Given the description of an element on the screen output the (x, y) to click on. 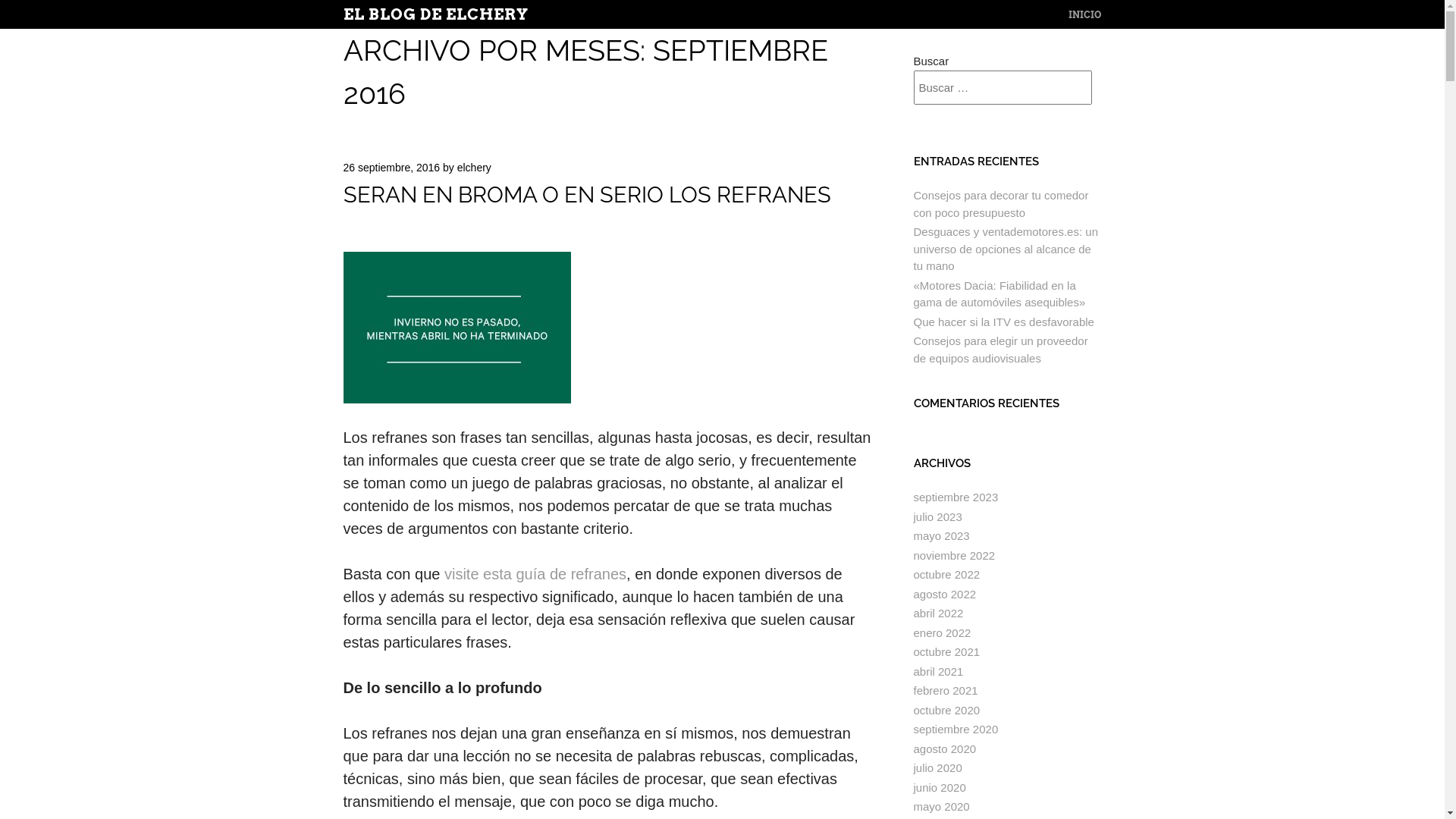
noviembre 2022 Element type: text (953, 555)
septiembre 2020 Element type: text (955, 728)
EL BLOG DE ELCHERY Element type: text (434, 14)
mayo 2023 Element type: text (941, 535)
SERAN EN BROMA O EN SERIO LOS REFRANES Element type: text (586, 194)
INICIO Element type: text (1084, 14)
mayo 2020 Element type: text (941, 806)
julio 2020 Element type: text (937, 767)
Que hacer si la ITV es desfavorable Element type: text (1003, 321)
septiembre 2023 Element type: text (955, 496)
enero 2022 Element type: text (941, 632)
junio 2020 Element type: text (939, 787)
febrero 2021 Element type: text (945, 690)
julio 2023 Element type: text (937, 516)
octubre 2020 Element type: text (946, 709)
SALTAR AL CONTENIDO Element type: text (1106, 14)
26 septiembre, 2016 Element type: text (390, 167)
agosto 2020 Element type: text (944, 748)
octubre 2022 Element type: text (946, 573)
octubre 2021 Element type: text (946, 651)
abril 2021 Element type: text (938, 671)
abril 2022 Element type: text (938, 612)
agosto 2022 Element type: text (944, 593)
Consejos para decorar tu comedor con poco presupuesto Element type: text (1000, 203)
Buscar Element type: text (46, 9)
elchery Element type: text (474, 167)
Consejos para elegir un proveedor de equipos audiovisuales Element type: text (1000, 349)
